Given the description of an element on the screen output the (x, y) to click on. 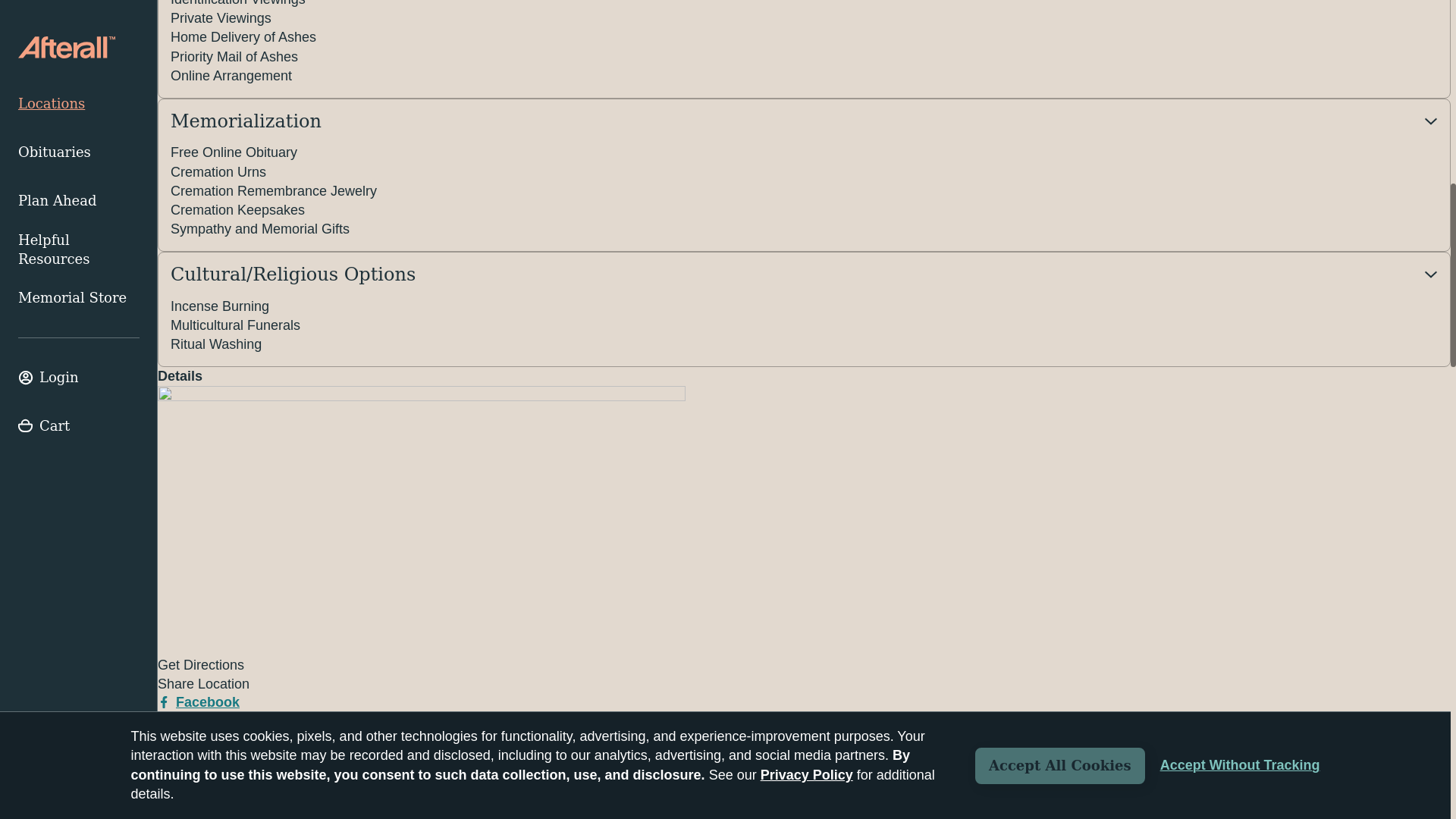
Memorialization (804, 121)
Facebook (198, 702)
